Given the description of an element on the screen output the (x, y) to click on. 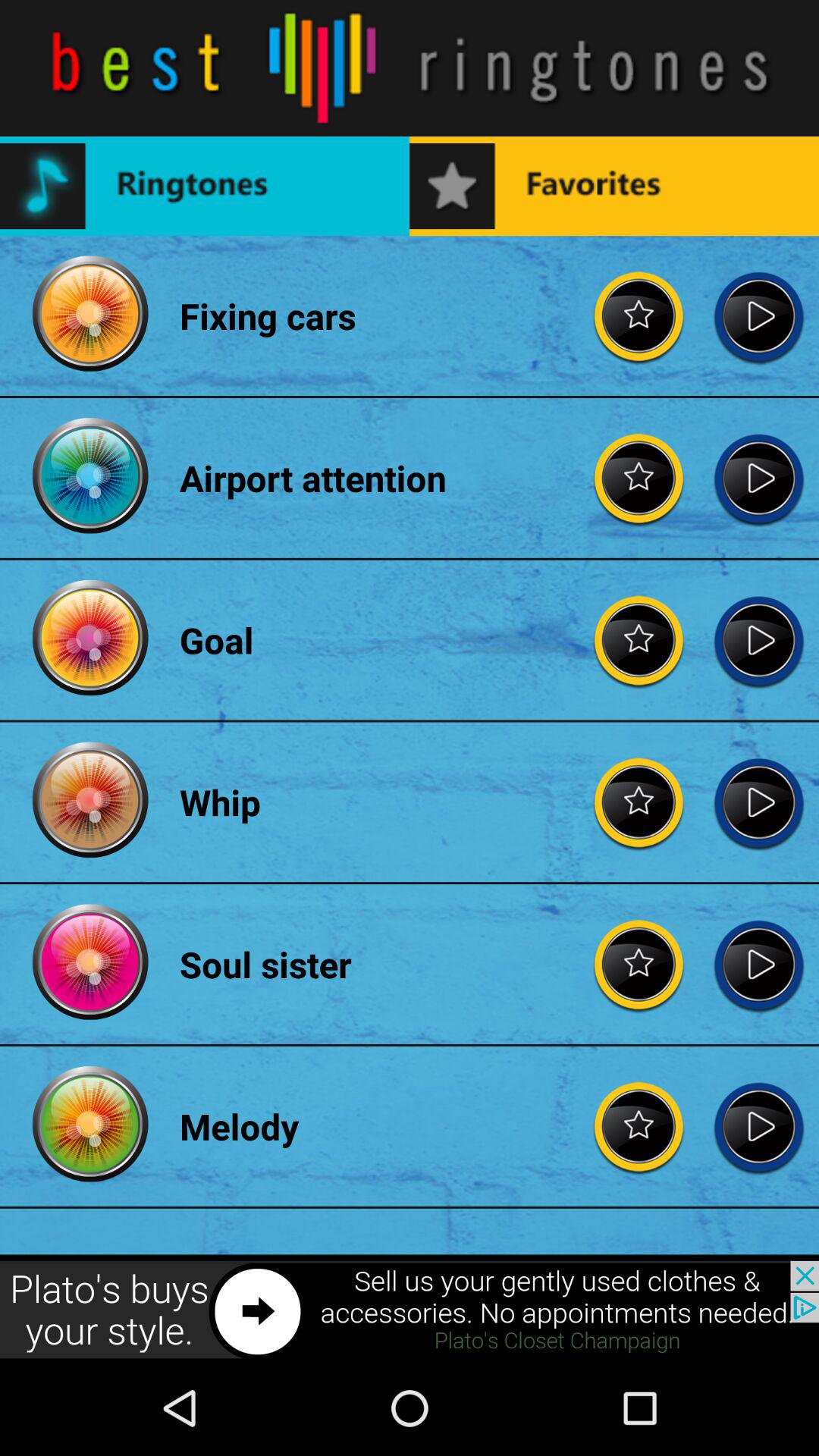
click to play (758, 964)
